Given the description of an element on the screen output the (x, y) to click on. 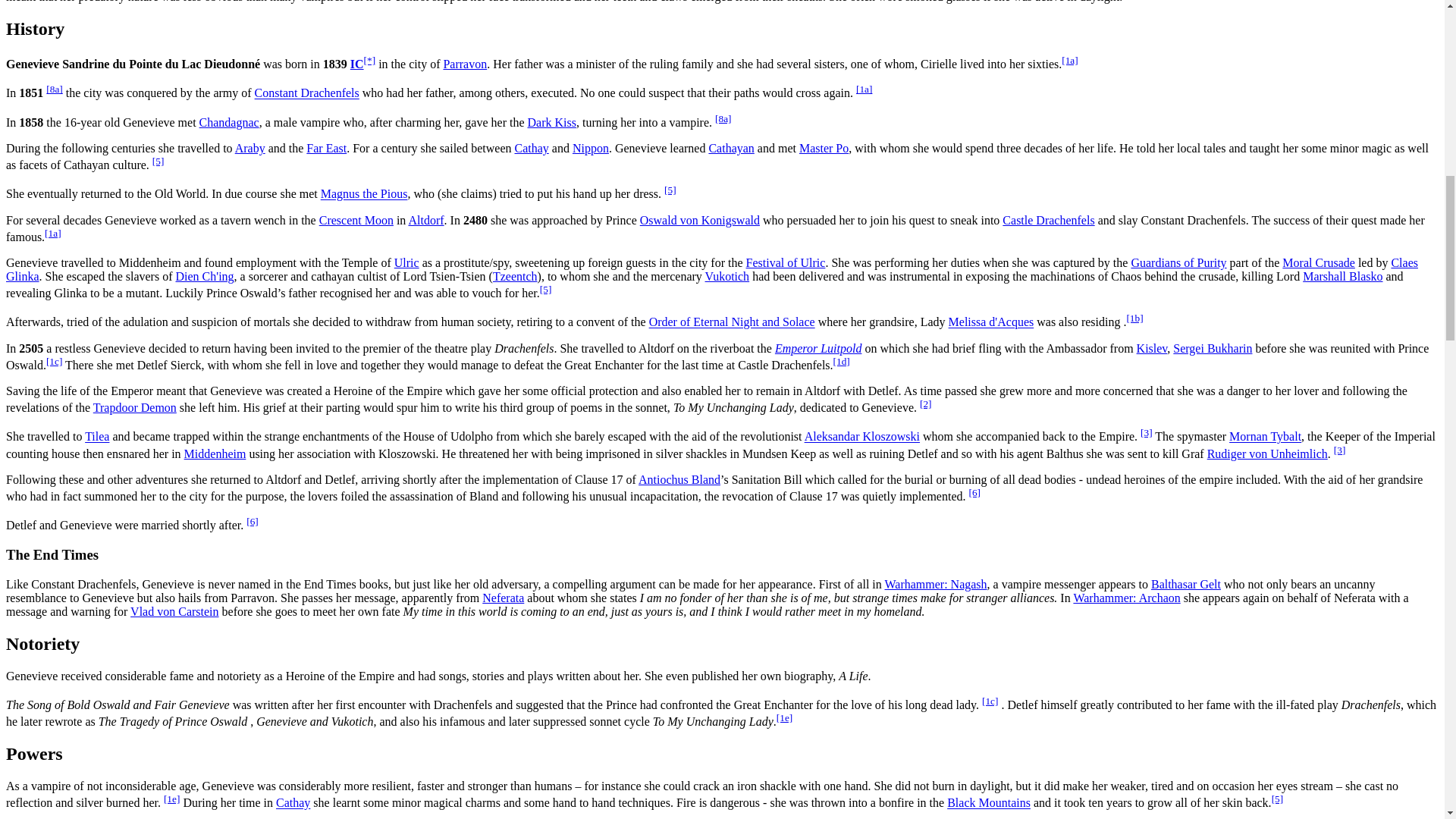
Far East (325, 147)
Magnus the Pious (363, 194)
Constant Drachenfels (306, 92)
Parravon (464, 63)
Cathayan (730, 147)
Magnus the Pious (363, 194)
Master Po (823, 147)
Araby (249, 147)
Constant Drachenfels (306, 92)
Nippon (590, 147)
